Given the description of an element on the screen output the (x, y) to click on. 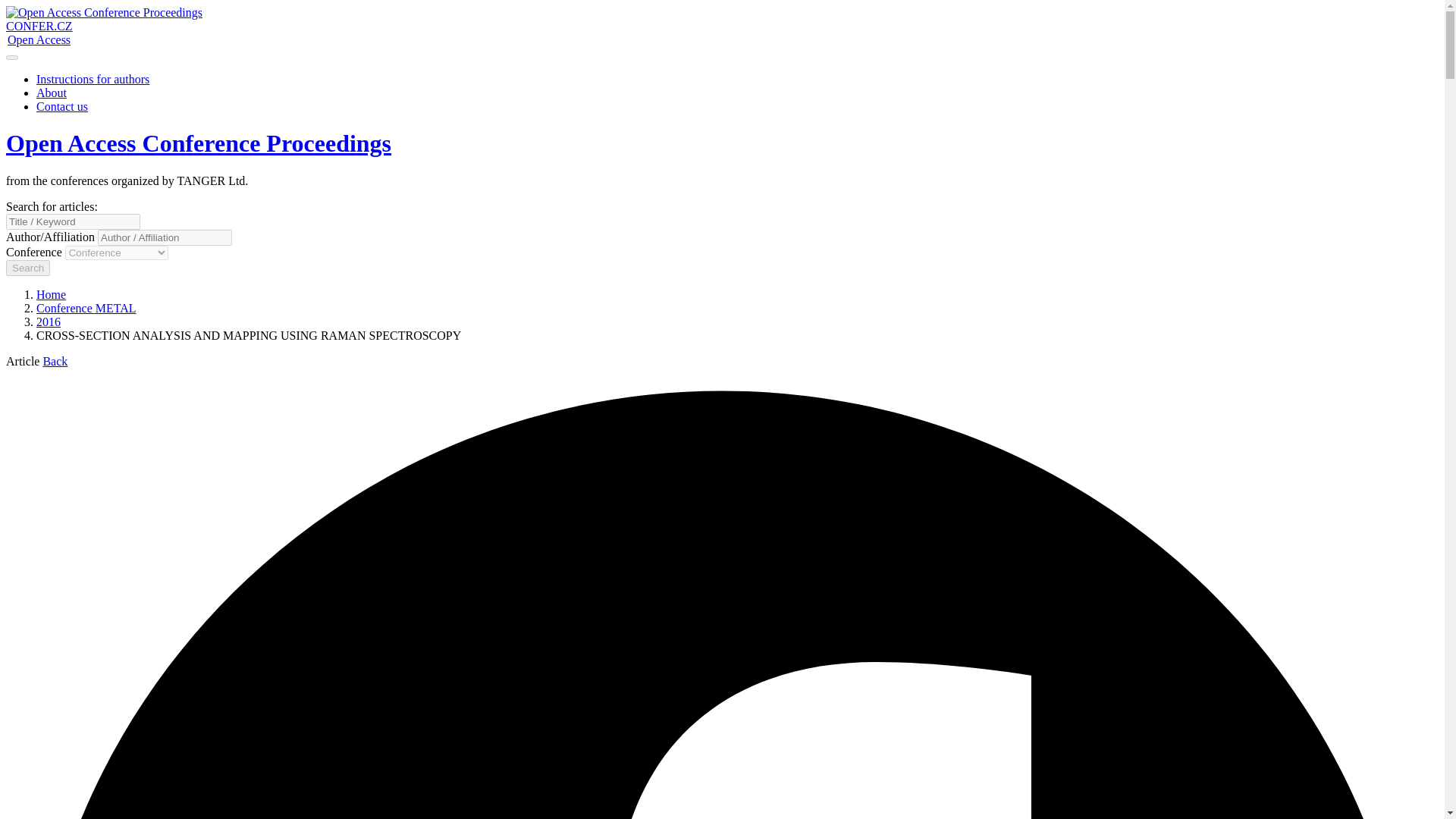
Search (27, 268)
Conference METAL (86, 308)
Instructions for authors (92, 78)
Open Access Conference Proceedings (198, 143)
Home (50, 294)
2016 (48, 321)
Contact us (61, 106)
Back (54, 360)
About (51, 92)
